Given the description of an element on the screen output the (x, y) to click on. 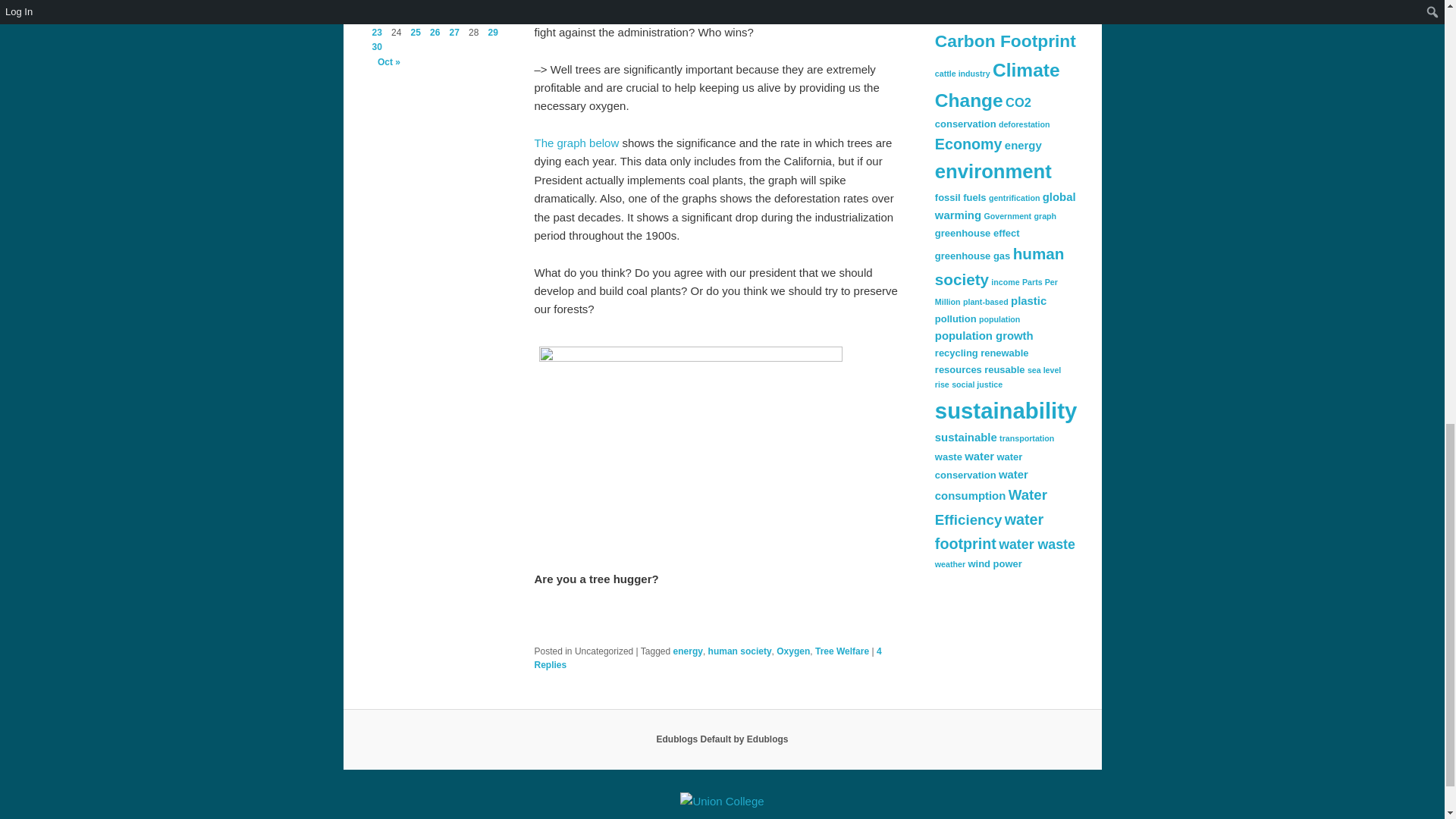
human society (739, 651)
4 Replies (707, 658)
Tree Welfare (842, 651)
The graph below (576, 142)
energy (687, 651)
Oxygen (792, 651)
